Given the description of an element on the screen output the (x, y) to click on. 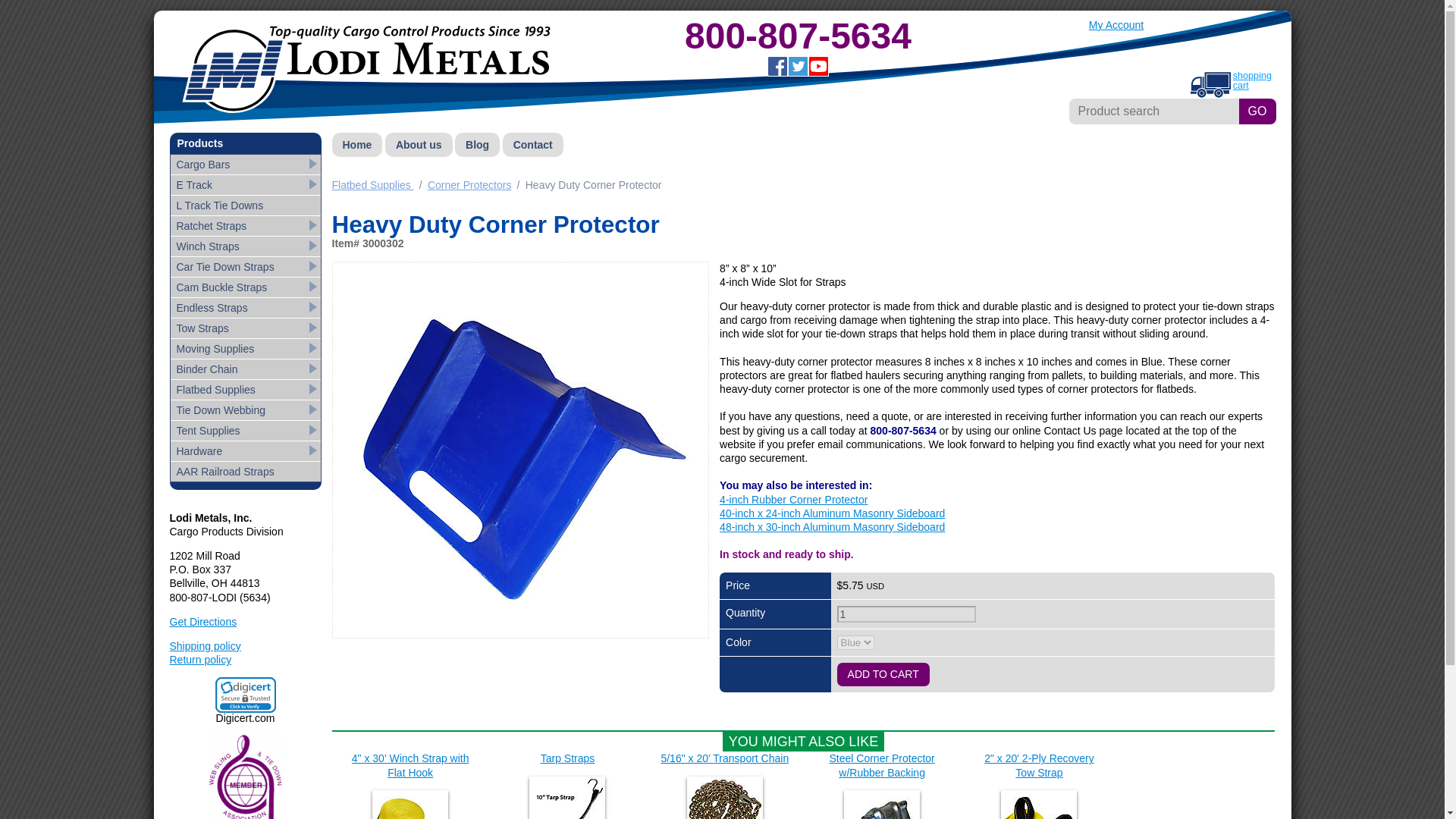
Facebook (777, 66)
Blog (476, 143)
About us (418, 143)
Add to Cart (883, 674)
Twitter (797, 66)
1 (906, 614)
Home (356, 143)
YouTube (818, 66)
L Track Tie Downs (245, 205)
Contact (532, 143)
